Given the description of an element on the screen output the (x, y) to click on. 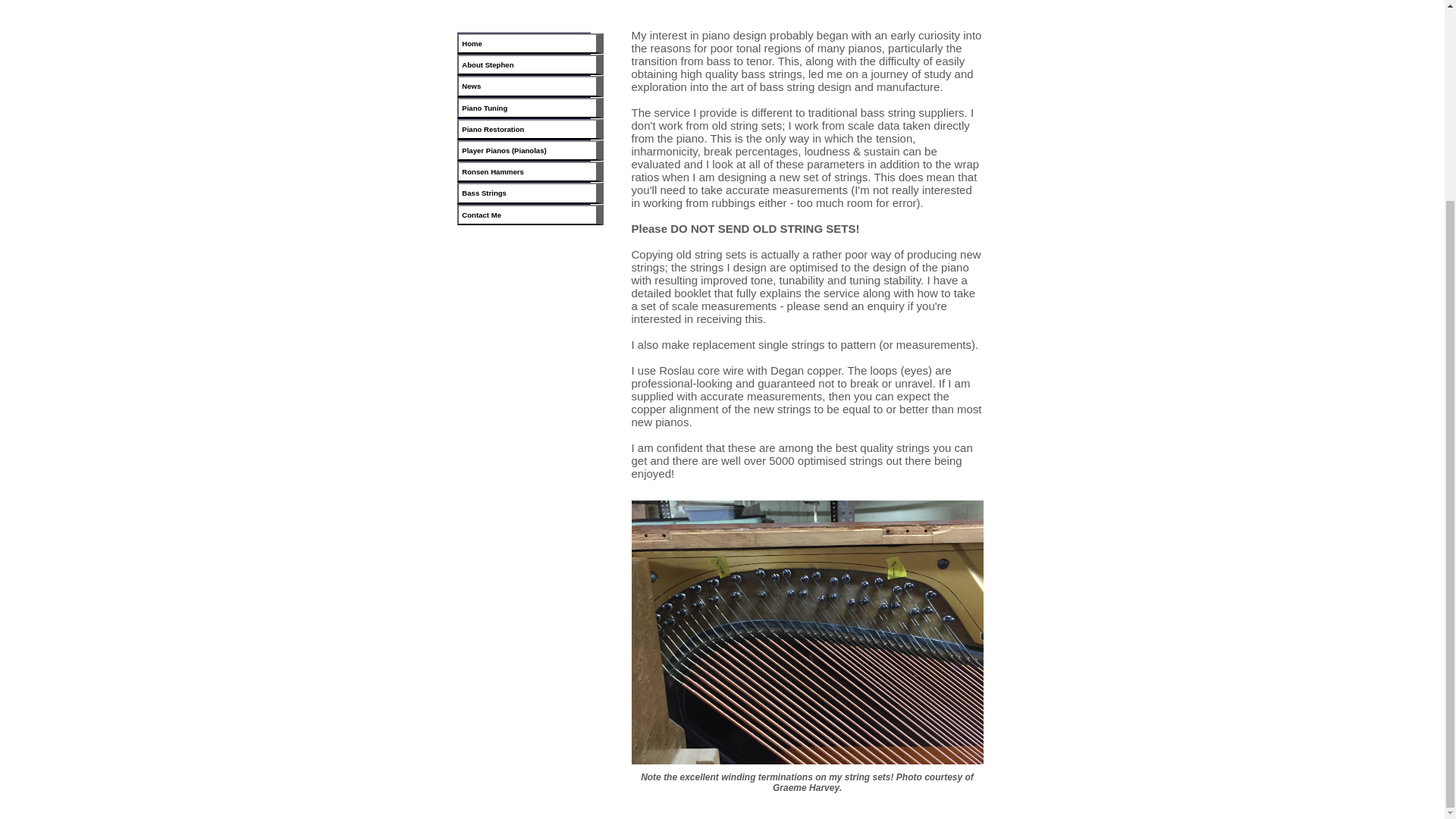
About Stephen (530, 64)
Bass Strings (530, 192)
Piano Restoration (530, 128)
News (530, 86)
Ronsen Hammers (530, 171)
Contact Me (530, 213)
Home (530, 43)
Piano Tuning (530, 107)
